Given the description of an element on the screen output the (x, y) to click on. 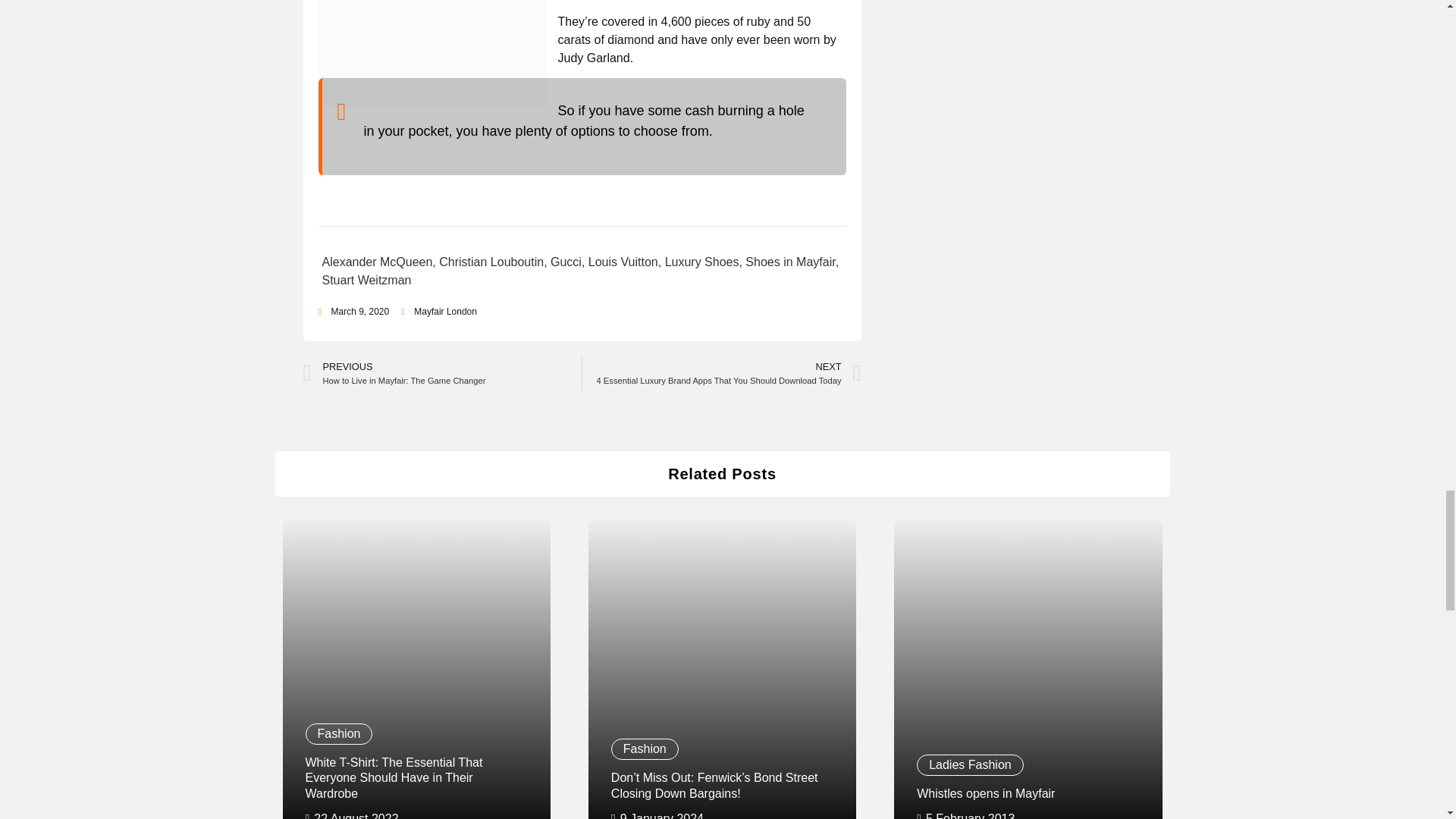
The Most Expensive Shoe Brands (432, 53)
Whistles opens in Mayfair (1027, 669)
